Given the description of an element on the screen output the (x, y) to click on. 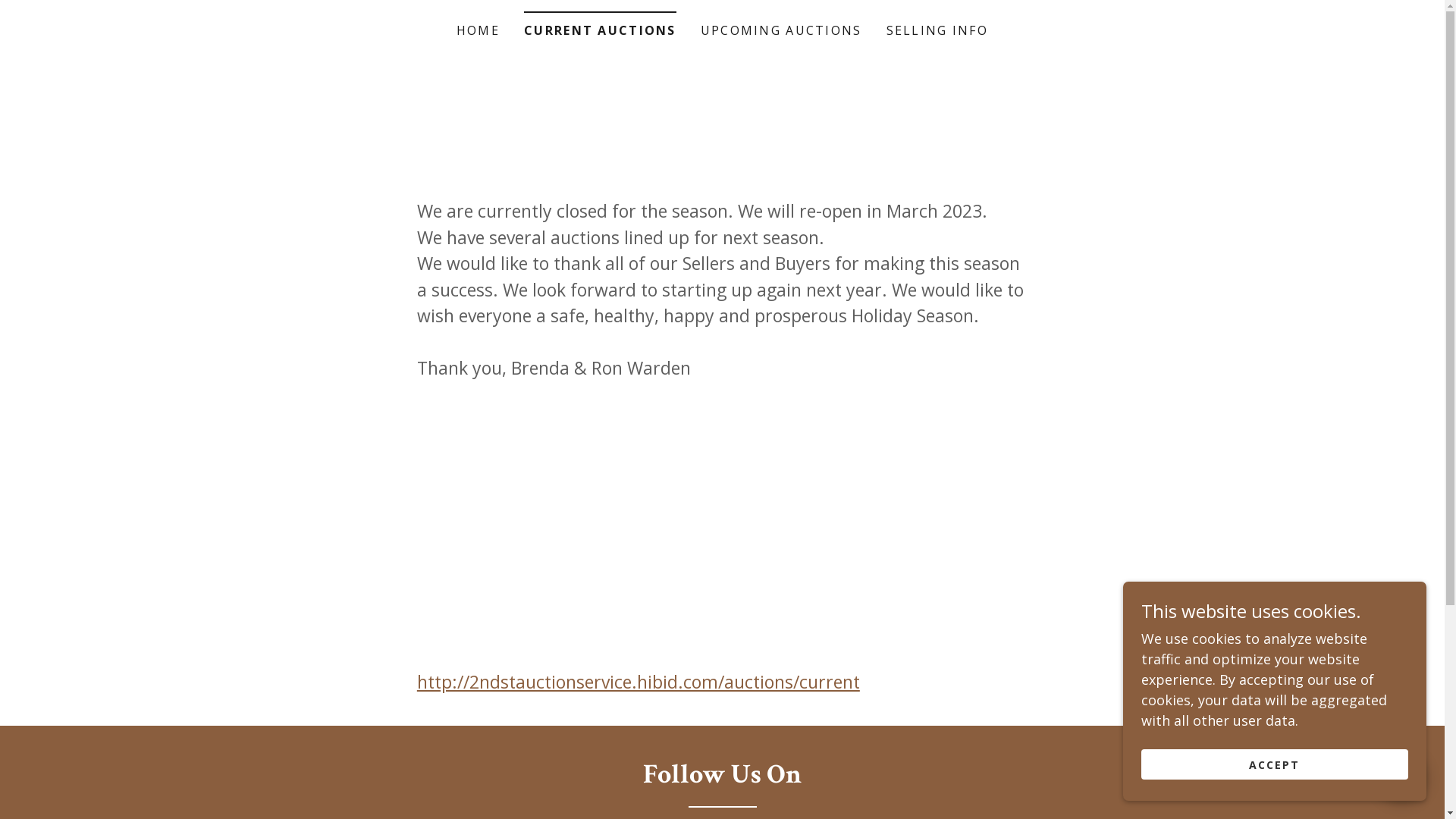
CURRENT AUCTIONS Element type: text (600, 25)
ACCEPT Element type: text (1274, 764)
HOME Element type: text (477, 29)
UPCOMING AUCTIONS Element type: text (781, 29)
http://2ndstauctionservice.hibid.com/auctions/current Element type: text (638, 681)
SELLING INFO Element type: text (936, 29)
